Given the description of an element on the screen output the (x, y) to click on. 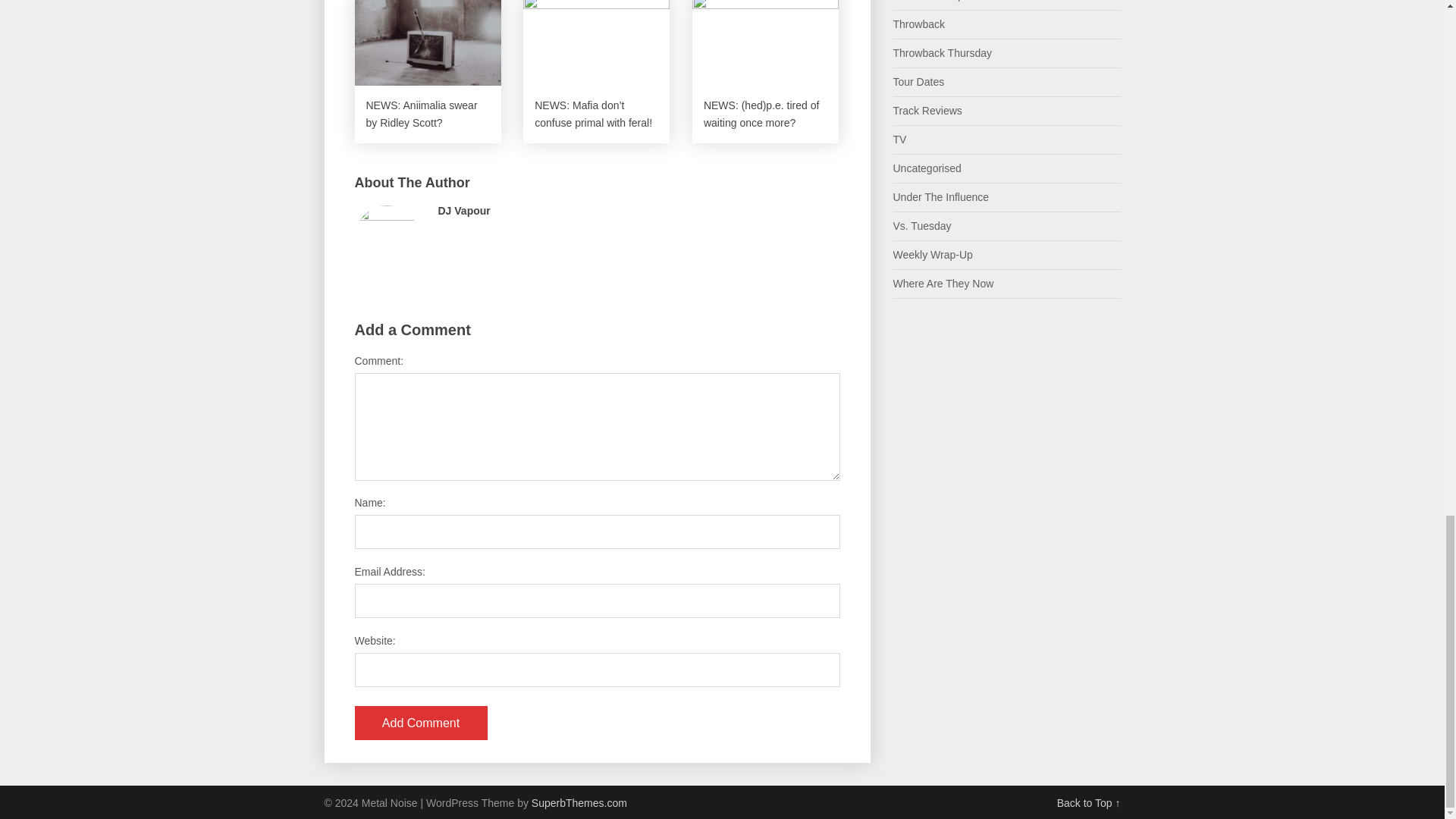
NEWS: Aniimalia swear by Ridley Scott? (427, 71)
Add Comment (421, 722)
NEWS: Aniimalia swear by Ridley Scott? (427, 71)
Add Comment (421, 722)
